Given the description of an element on the screen output the (x, y) to click on. 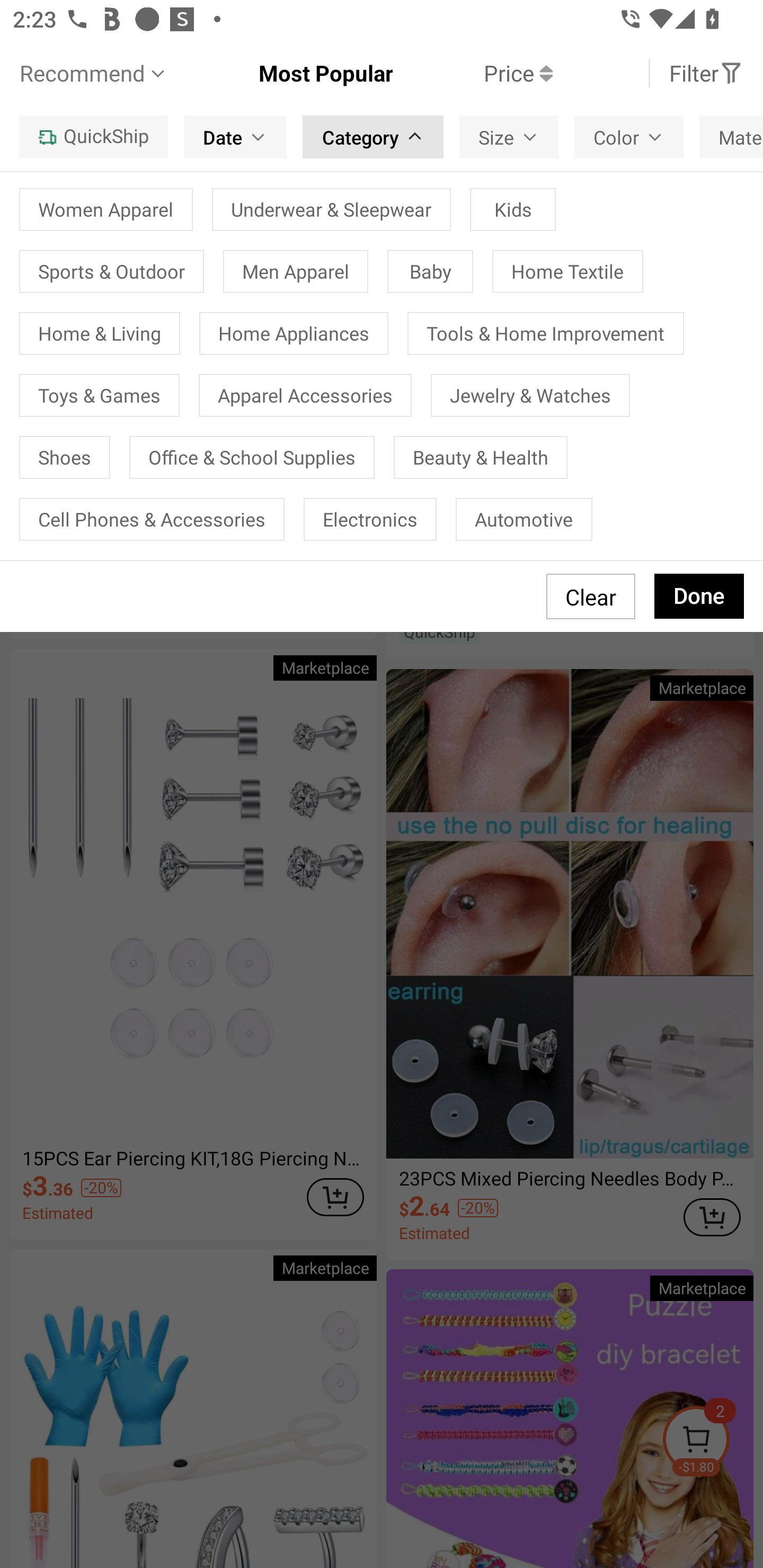
Recommend (93, 72)
Most Popular (280, 72)
Price (472, 72)
Filter (705, 72)
QuickShip (93, 137)
Date (234, 137)
Category (372, 137)
Size (508, 137)
Color (628, 137)
